Given the description of an element on the screen output the (x, y) to click on. 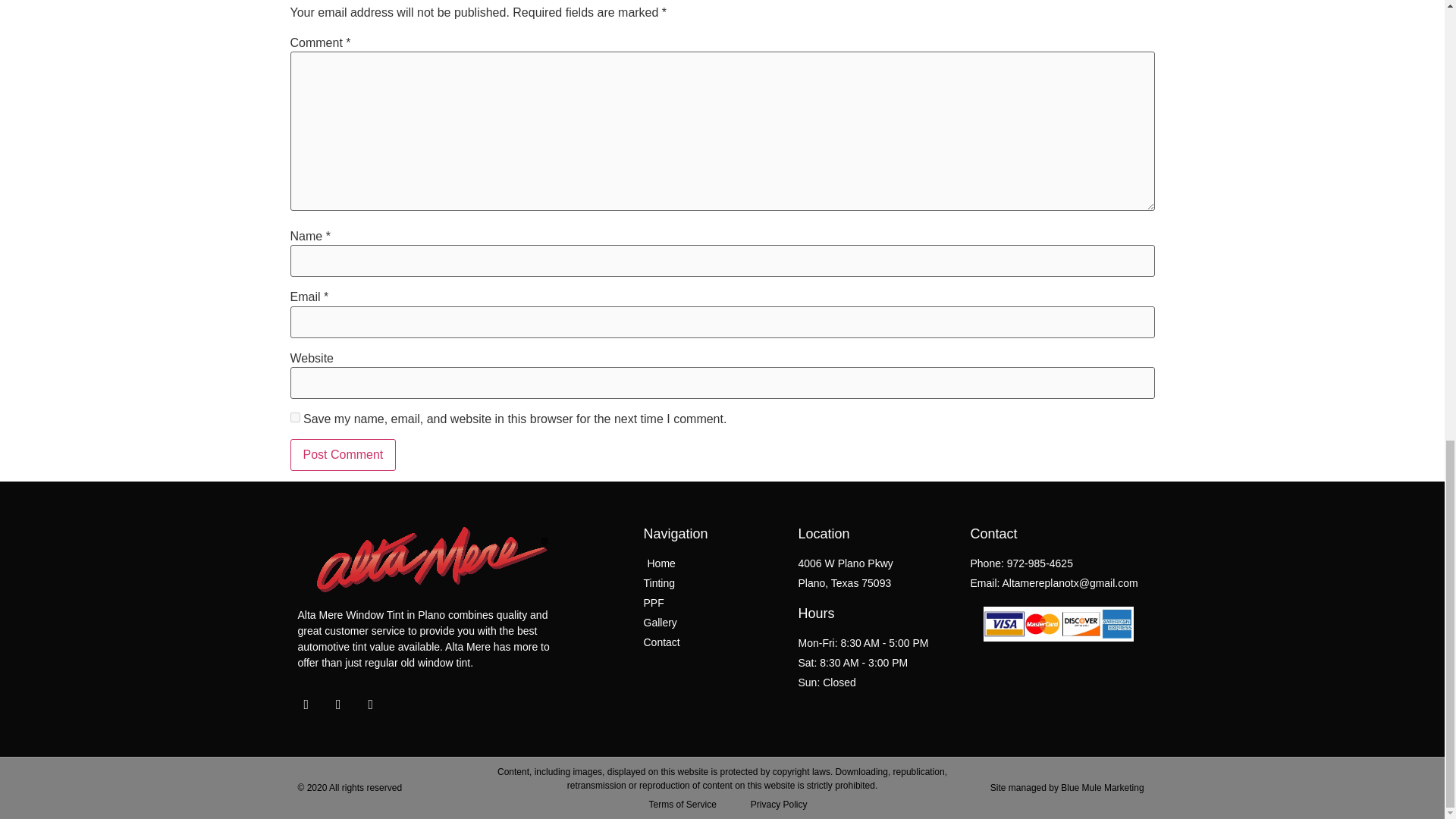
Post Comment (342, 454)
Privacy Policy (773, 804)
Contact (713, 642)
Site managed by Blue Mule Marketing (1067, 787)
Home (713, 563)
Gallery (713, 622)
yes (294, 417)
Terms of Service (676, 804)
PPF (713, 602)
Post Comment (342, 454)
Tinting (713, 583)
